Given the description of an element on the screen output the (x, y) to click on. 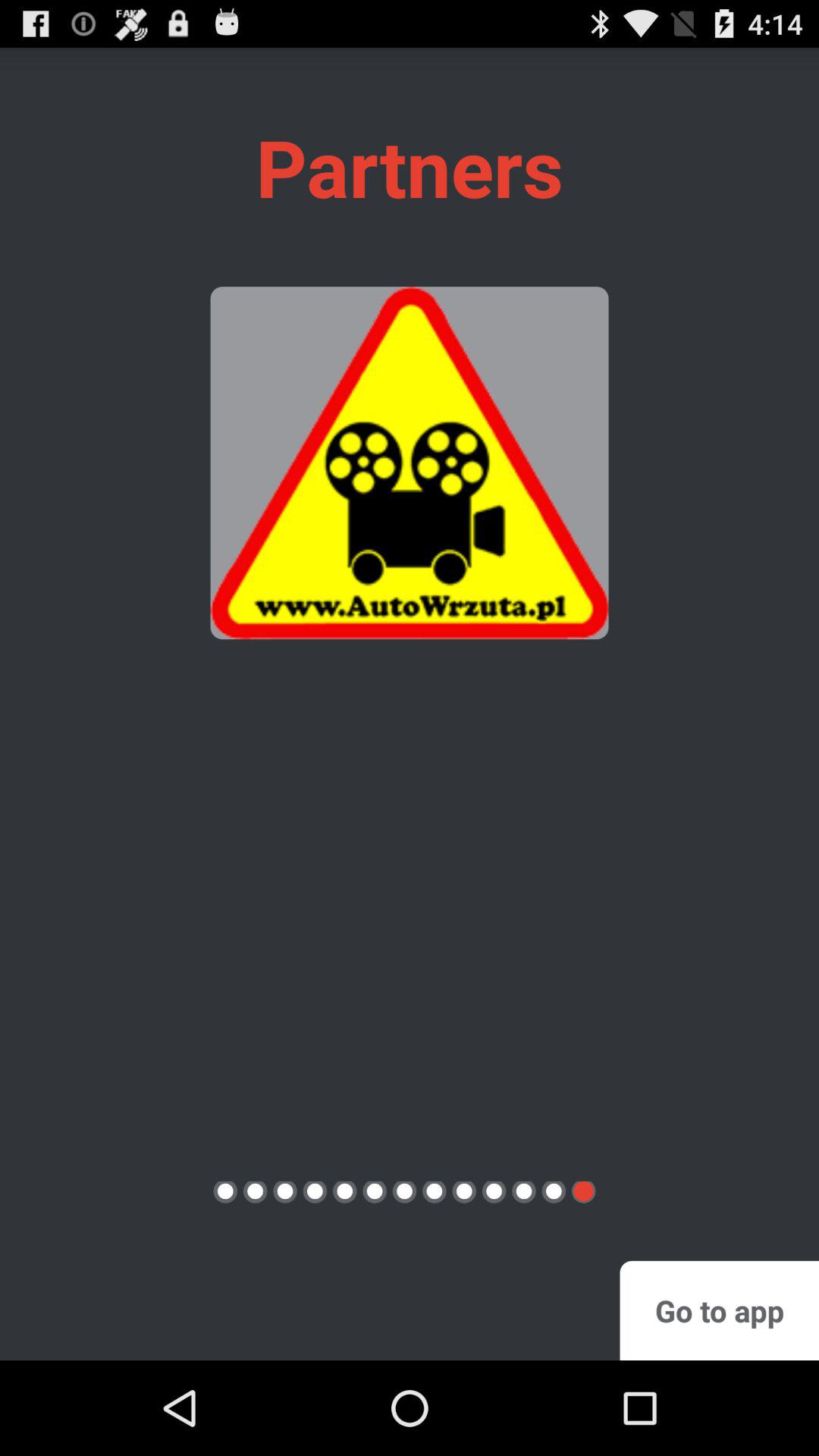
turn on go to app button (719, 1310)
